Given the description of an element on the screen output the (x, y) to click on. 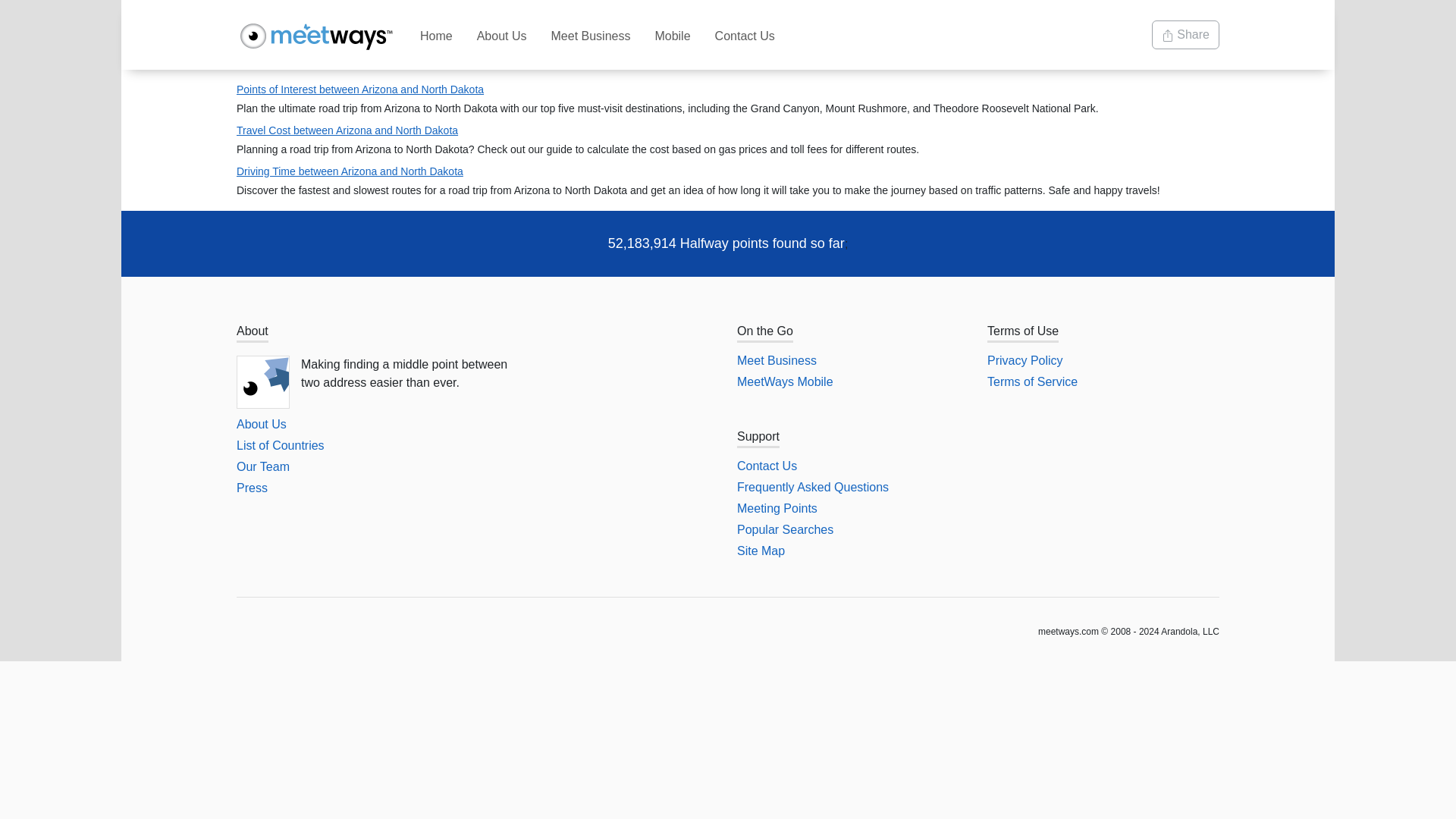
Popular Searches (784, 529)
About Us (260, 423)
Our Team (262, 466)
Contact Us (745, 34)
Privacy Policy (1024, 359)
Contact Us (766, 465)
MeetWays Mobile (784, 381)
Terms of Service (1032, 381)
List of Countries (279, 445)
Press (251, 487)
Frequently Asked Questions (812, 486)
Travel Cost between Arizona and North Dakota (346, 130)
Share (1185, 34)
Driving Time between Arizona and North Dakota (349, 171)
Site Map (760, 550)
